Given the description of an element on the screen output the (x, y) to click on. 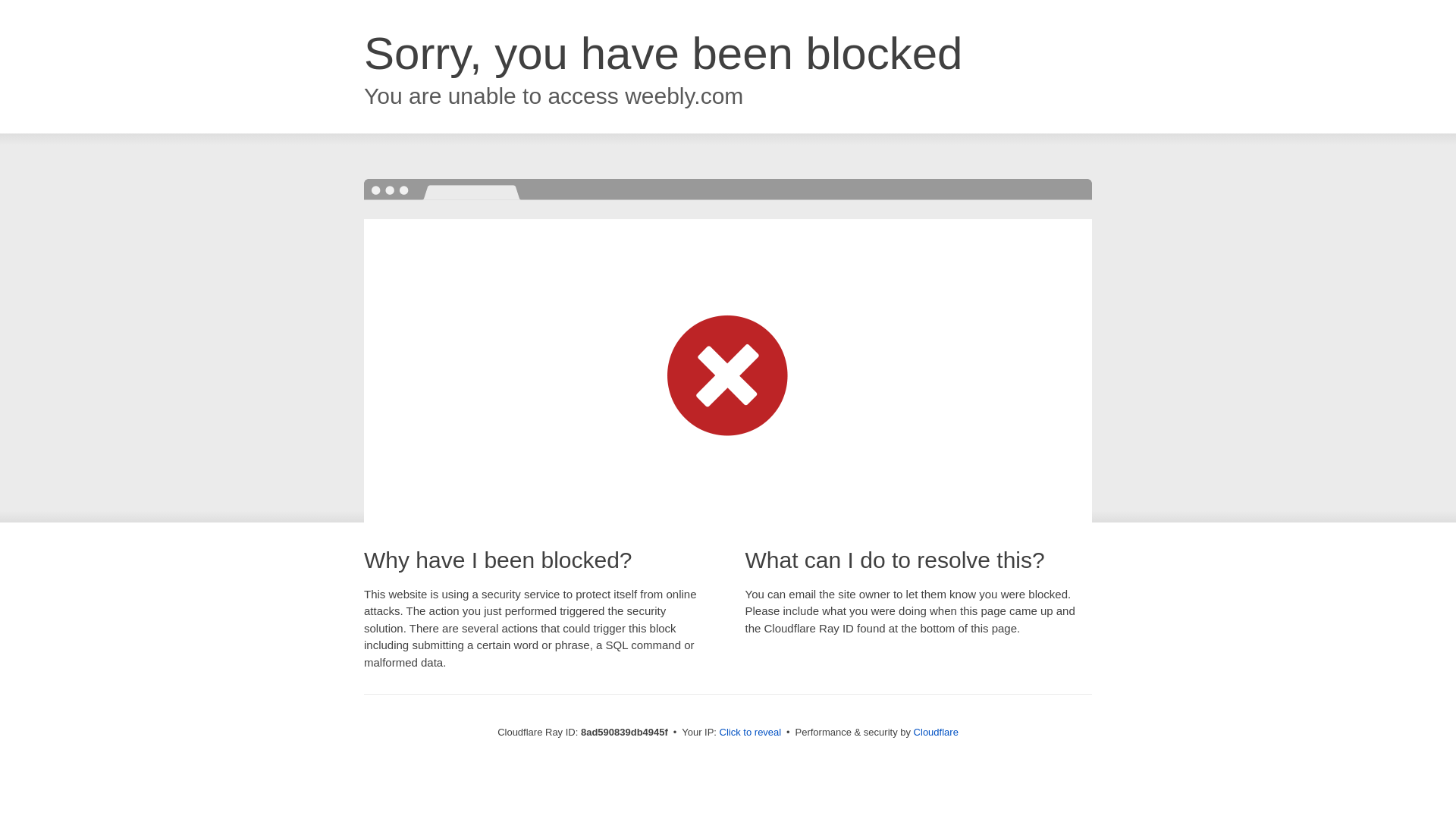
Cloudflare (936, 731)
Click to reveal (750, 732)
